Given the description of an element on the screen output the (x, y) to click on. 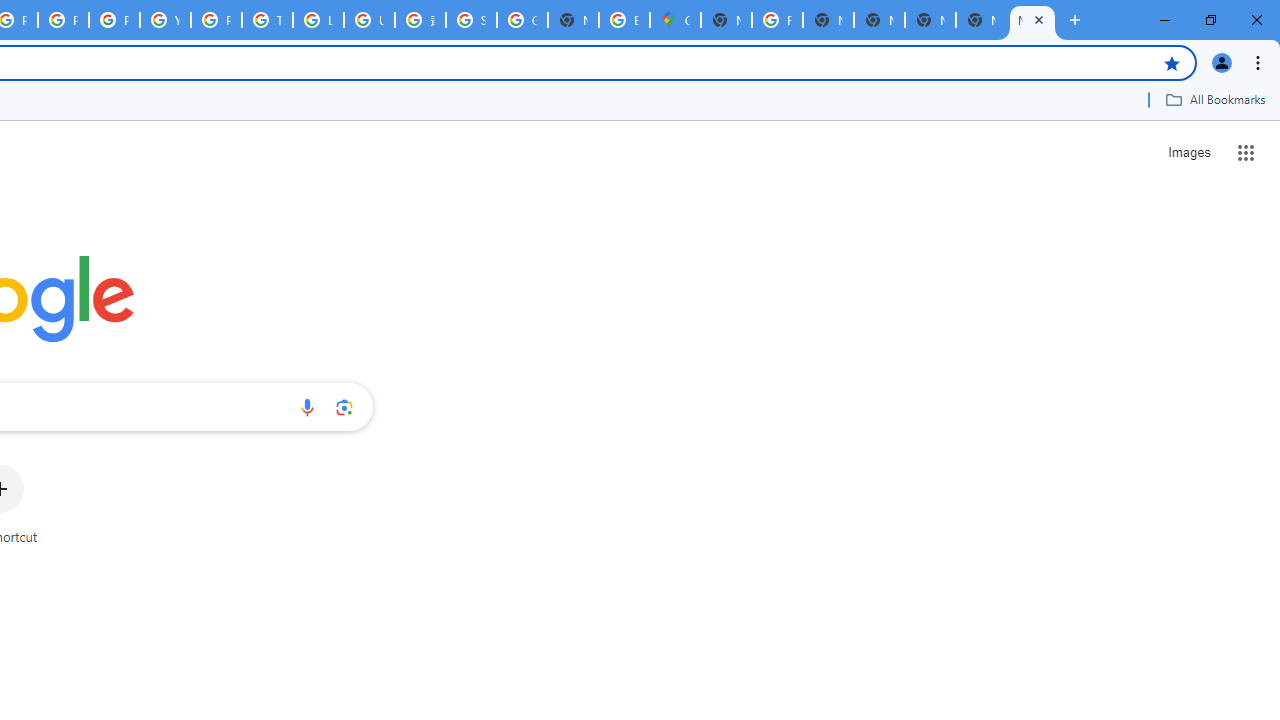
Tips & tricks for Chrome - Google Chrome Help (267, 20)
Privacy Help Center - Policies Help (63, 20)
New Tab (726, 20)
Sign in - Google Accounts (470, 20)
